Given the description of an element on the screen output the (x, y) to click on. 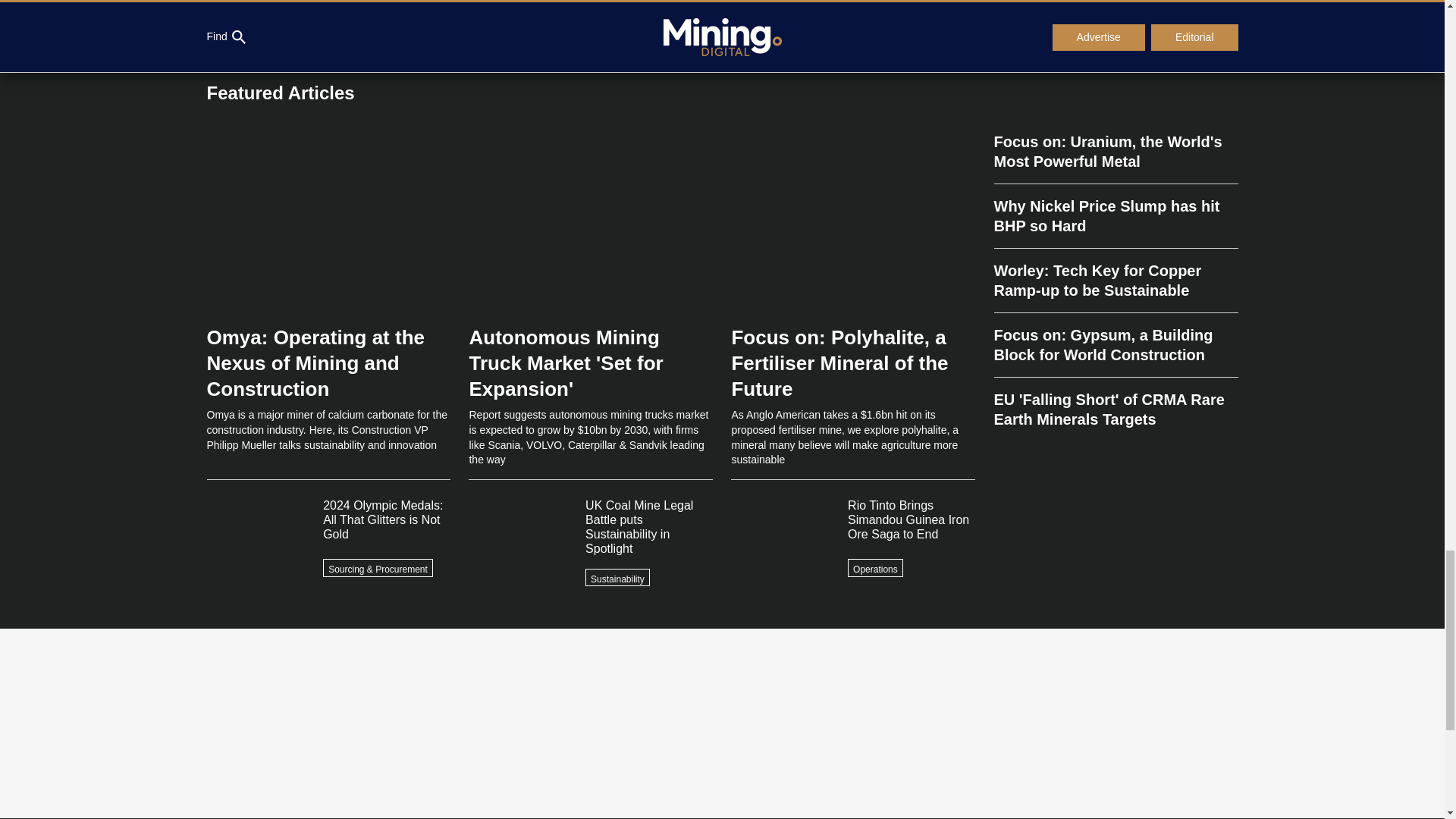
Focus on: Uranium, the World's Most Powerful Metal (1114, 157)
EU 'Falling Short' of CRMA Rare Earth Minerals Targets (1114, 403)
Why Nickel Price Slump has hit BHP so Hard (1114, 216)
Focus on: Gypsum, a Building Block for World Construction (1114, 344)
Worley: Tech Key for Copper Ramp-up to be Sustainable (1114, 280)
